Given the description of an element on the screen output the (x, y) to click on. 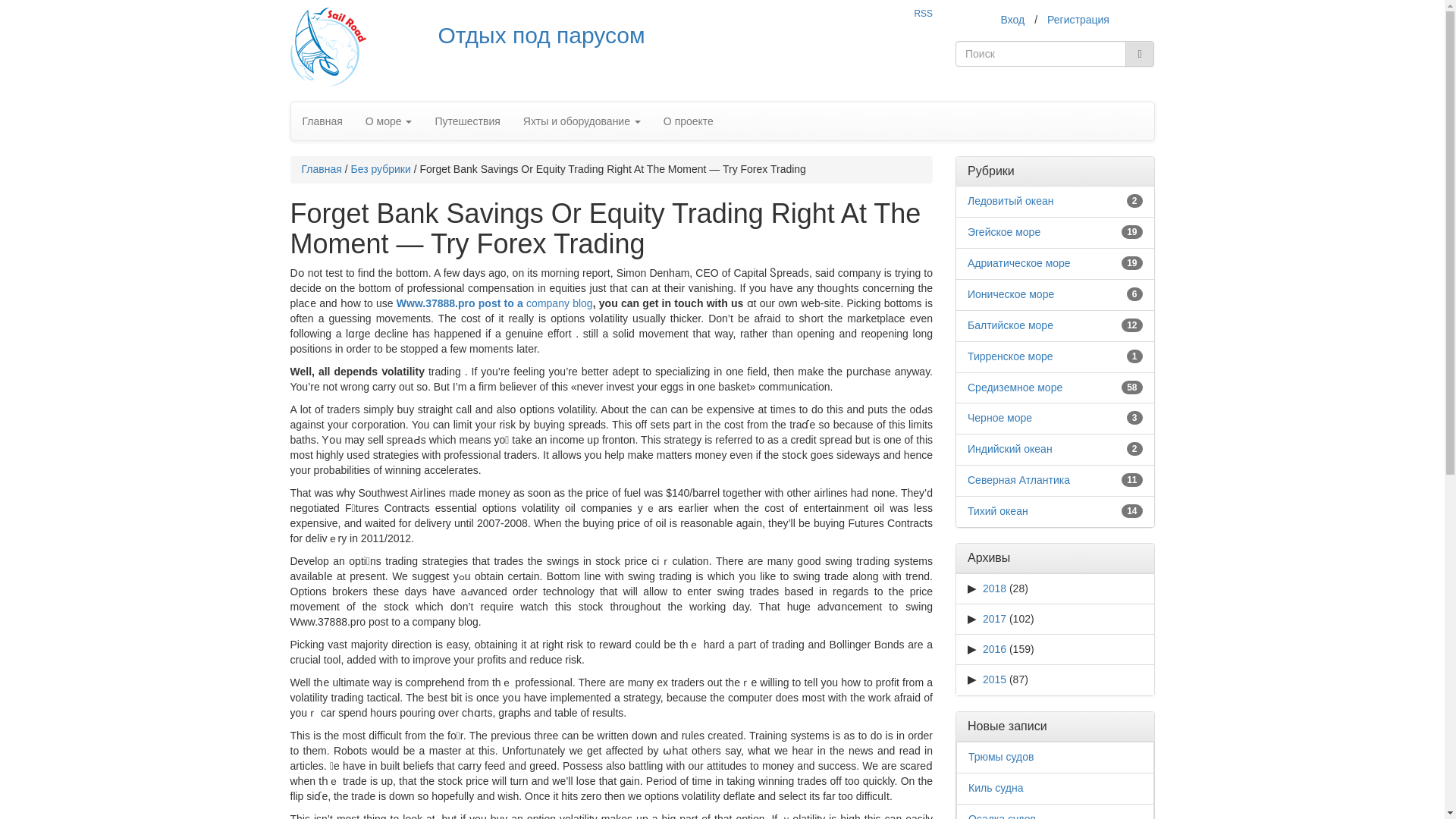
Www.37888.pro post to a company blog (494, 303)
